Given the description of an element on the screen output the (x, y) to click on. 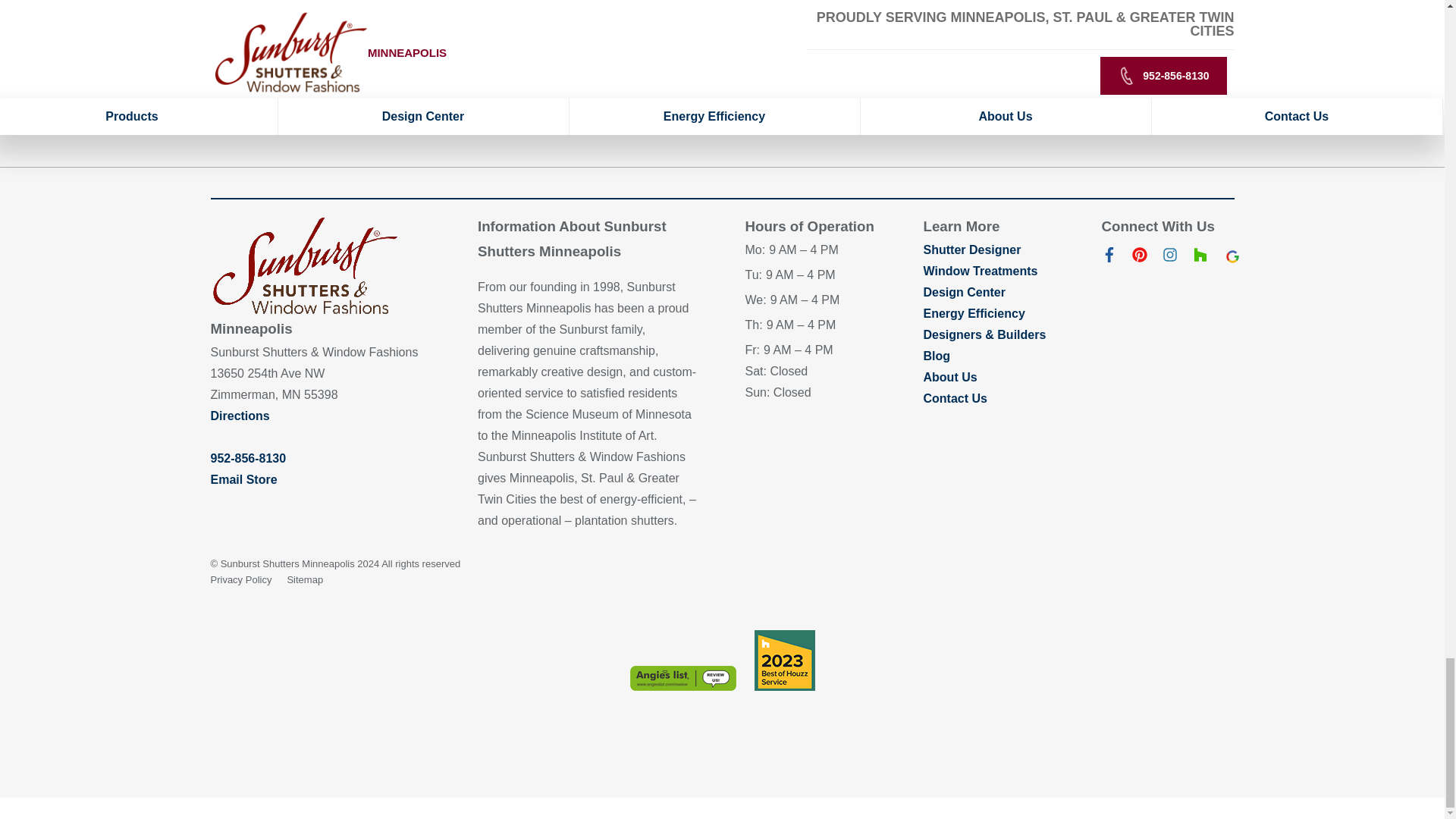
Review us on Google (1230, 257)
Follow us on Instagram (1168, 257)
Like us on Facebook (1108, 257)
Save us on Houzz (1199, 257)
Review Us on Angies List! (681, 678)
Follow us on Pinterest (1139, 257)
Best Of Houzz 2024 (783, 660)
